Given the description of an element on the screen output the (x, y) to click on. 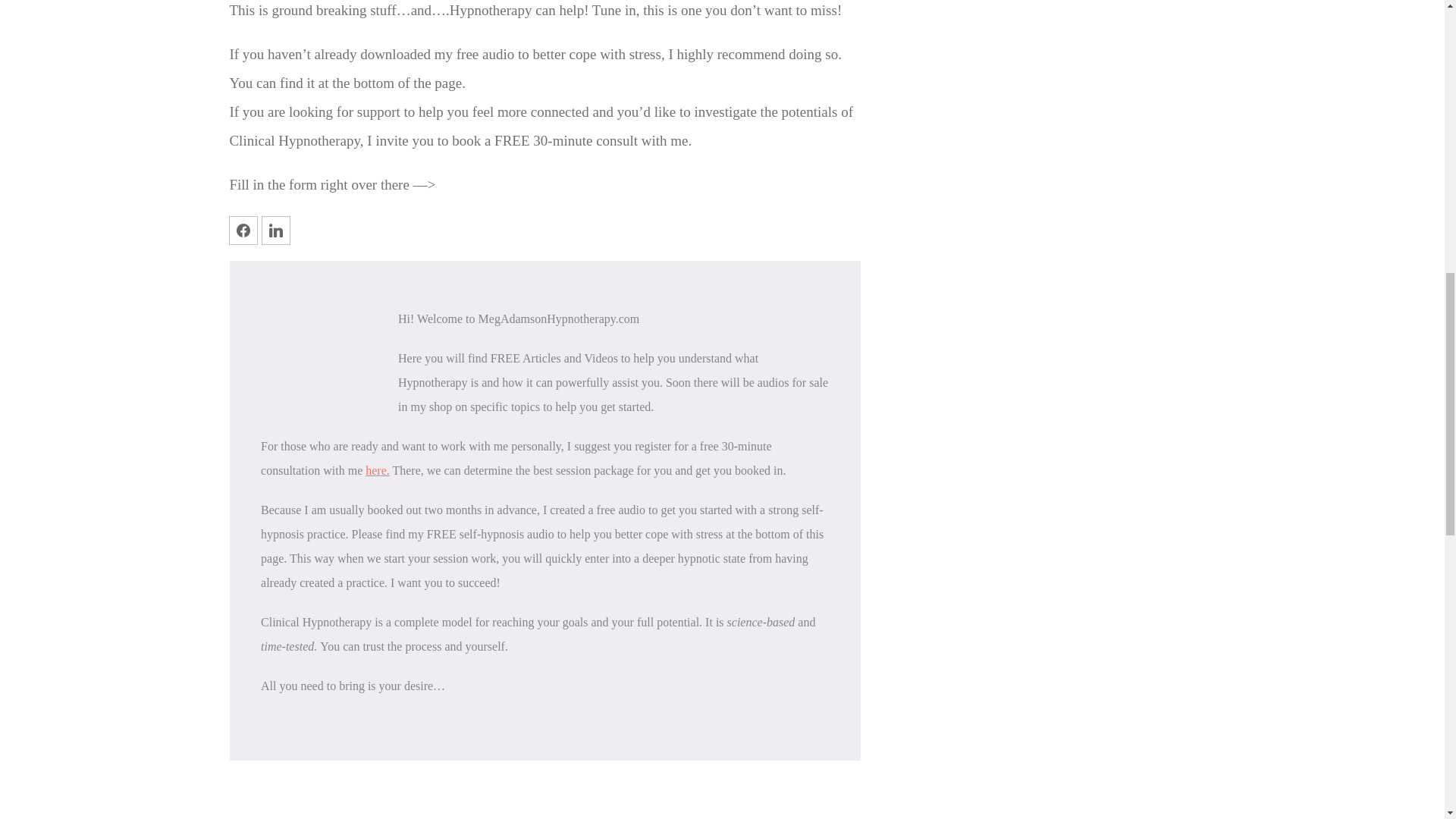
Share on Facebook (242, 230)
Share on LinkedIn (275, 230)
here. (377, 470)
